Given the description of an element on the screen output the (x, y) to click on. 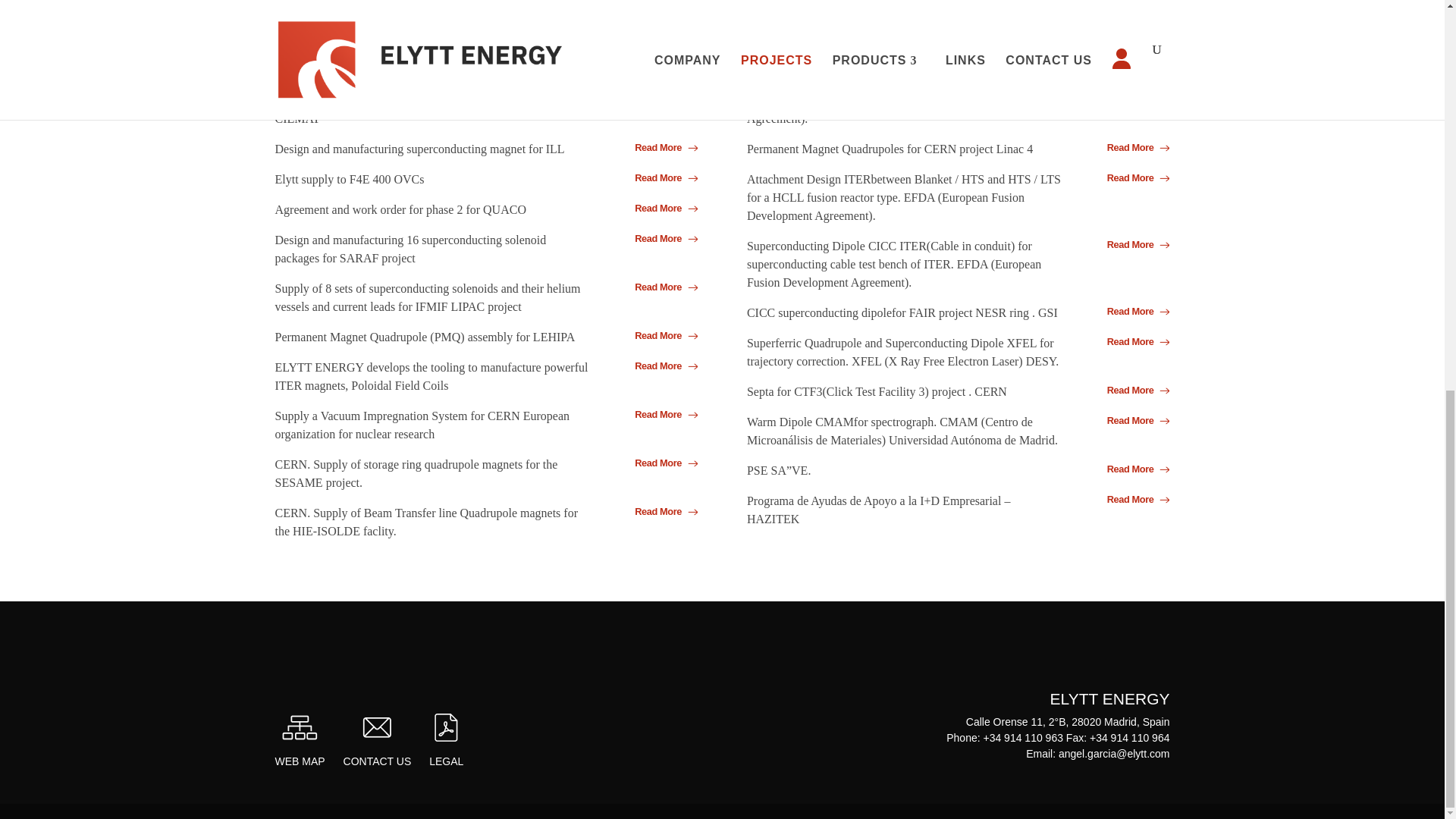
Read More (659, 237)
Read More (1131, 80)
Read More (659, 335)
Read More (659, 462)
Read More (659, 414)
Read More (659, 98)
Read More (659, 50)
Read More (1131, 244)
Read More (659, 177)
Read More (659, 207)
Read More (659, 365)
Read More (659, 287)
Read More (1131, 177)
Read More (1131, 147)
Read More (1131, 50)
